Given the description of an element on the screen output the (x, y) to click on. 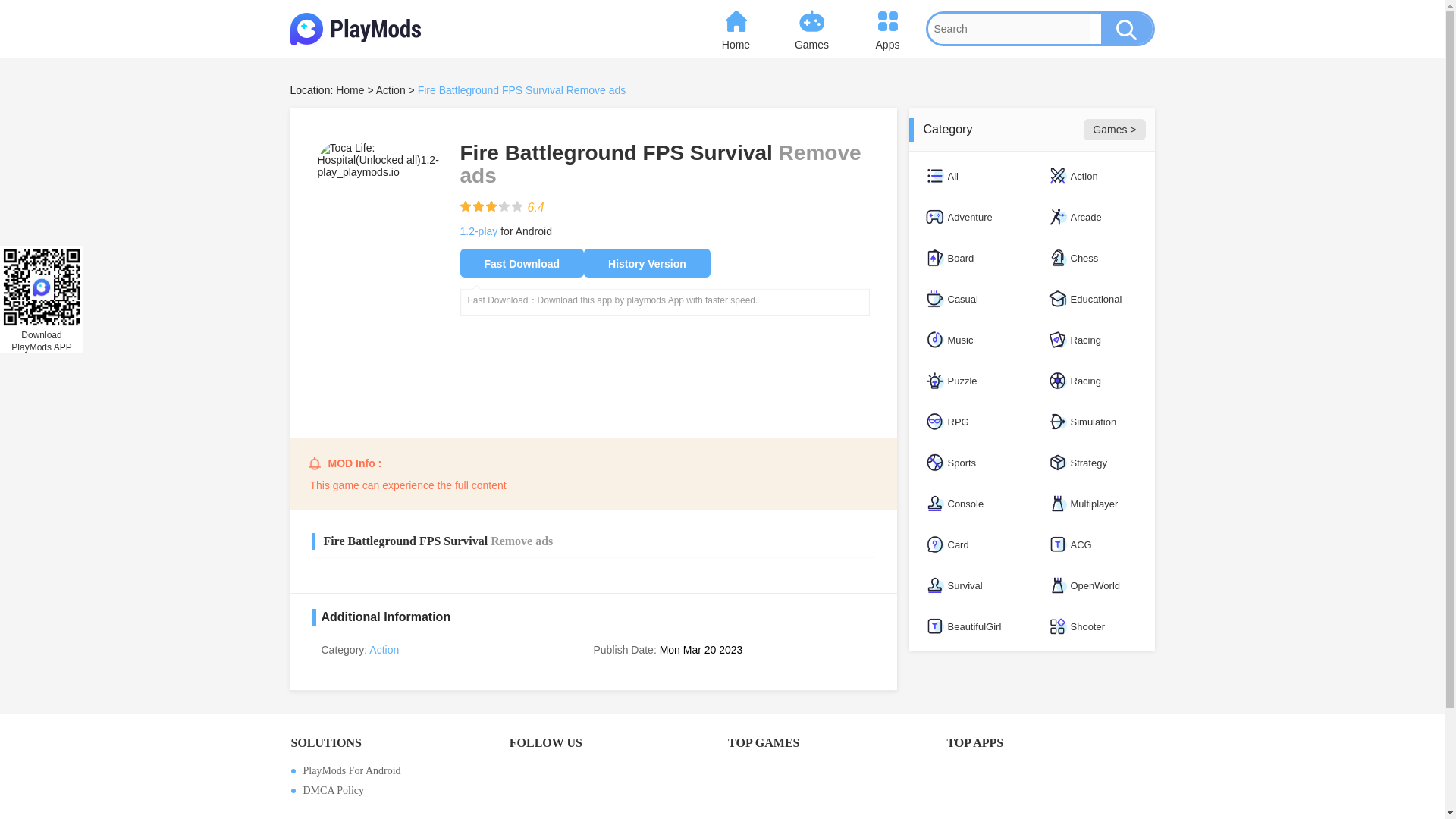
Apps (886, 28)
PlayMods For Android (394, 770)
History Version (646, 262)
Card (969, 544)
BeautifulGirl (969, 626)
Action (383, 649)
Racing (1092, 339)
Educational (1092, 298)
Music (969, 339)
Fast Download (521, 262)
